Given the description of an element on the screen output the (x, y) to click on. 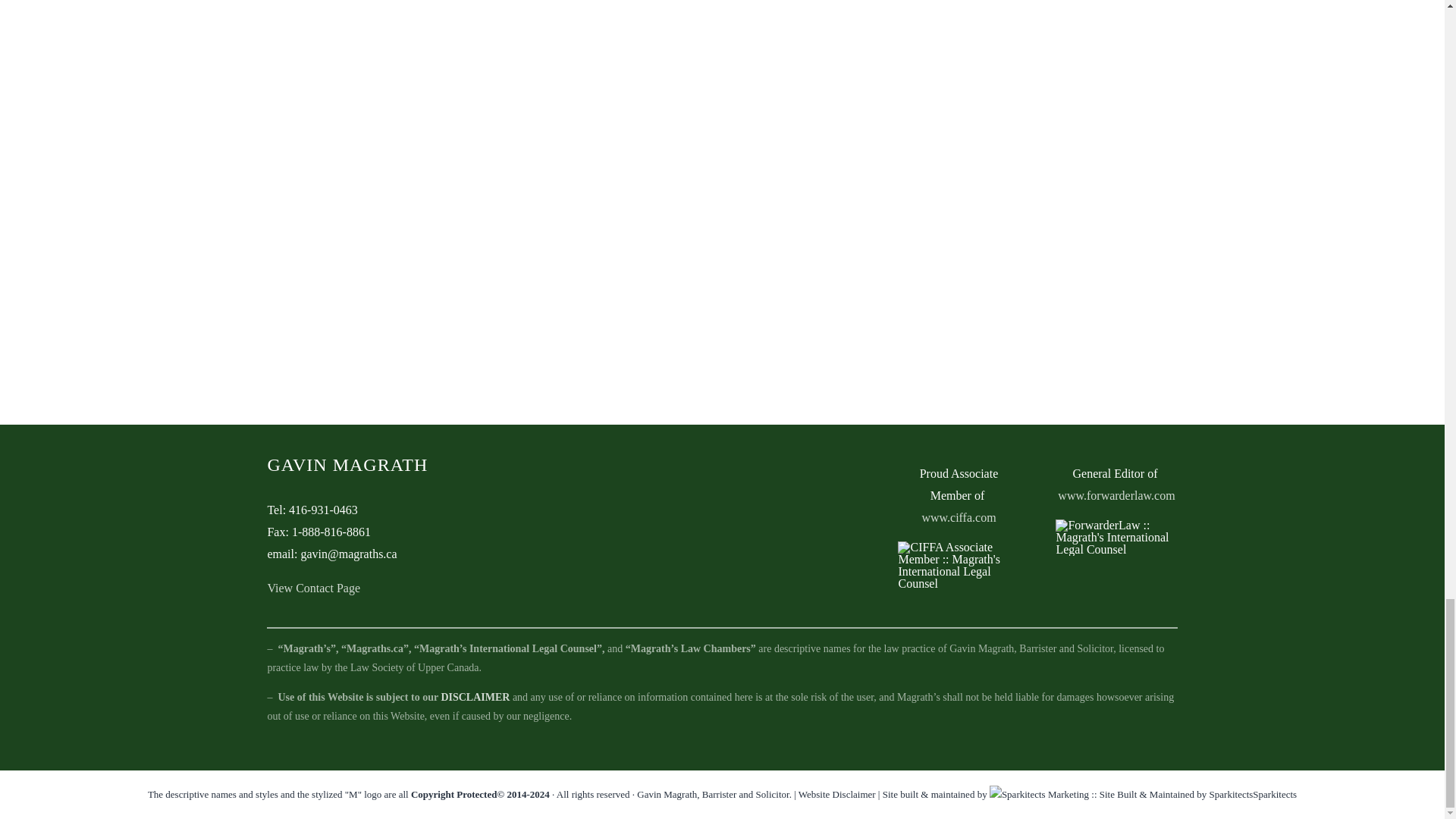
View Contact Page (312, 587)
DISCLAIMER (475, 696)
www.forwarderlaw.com (1116, 495)
Sparkitects (1274, 794)
Website Disclaimer (836, 794)
www.ciffa.com (958, 517)
